Given the description of an element on the screen output the (x, y) to click on. 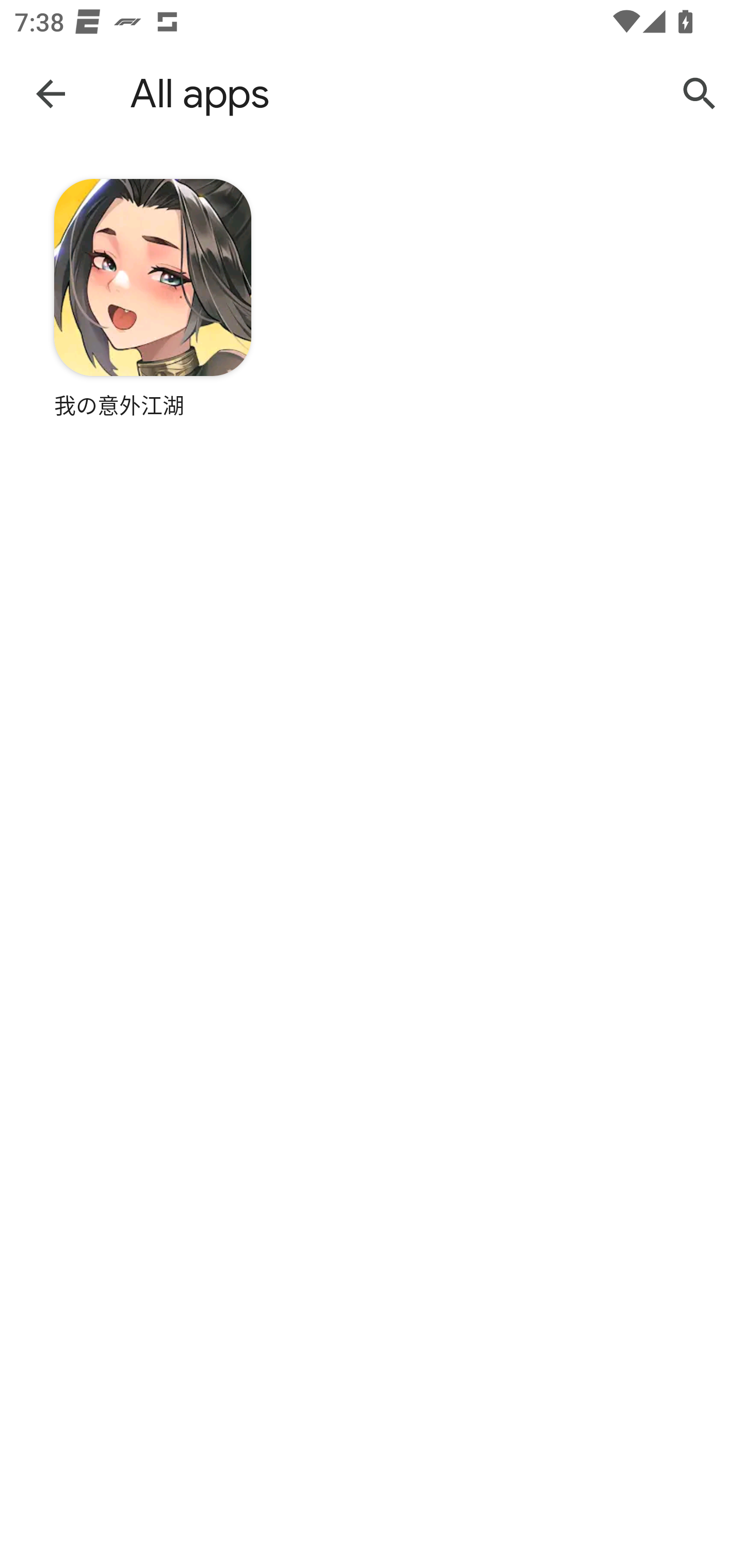
Navigate up (50, 92)
Search Google Play (699, 93)
App: 我の意外江湖


 (152, 328)
